Given the description of an element on the screen output the (x, y) to click on. 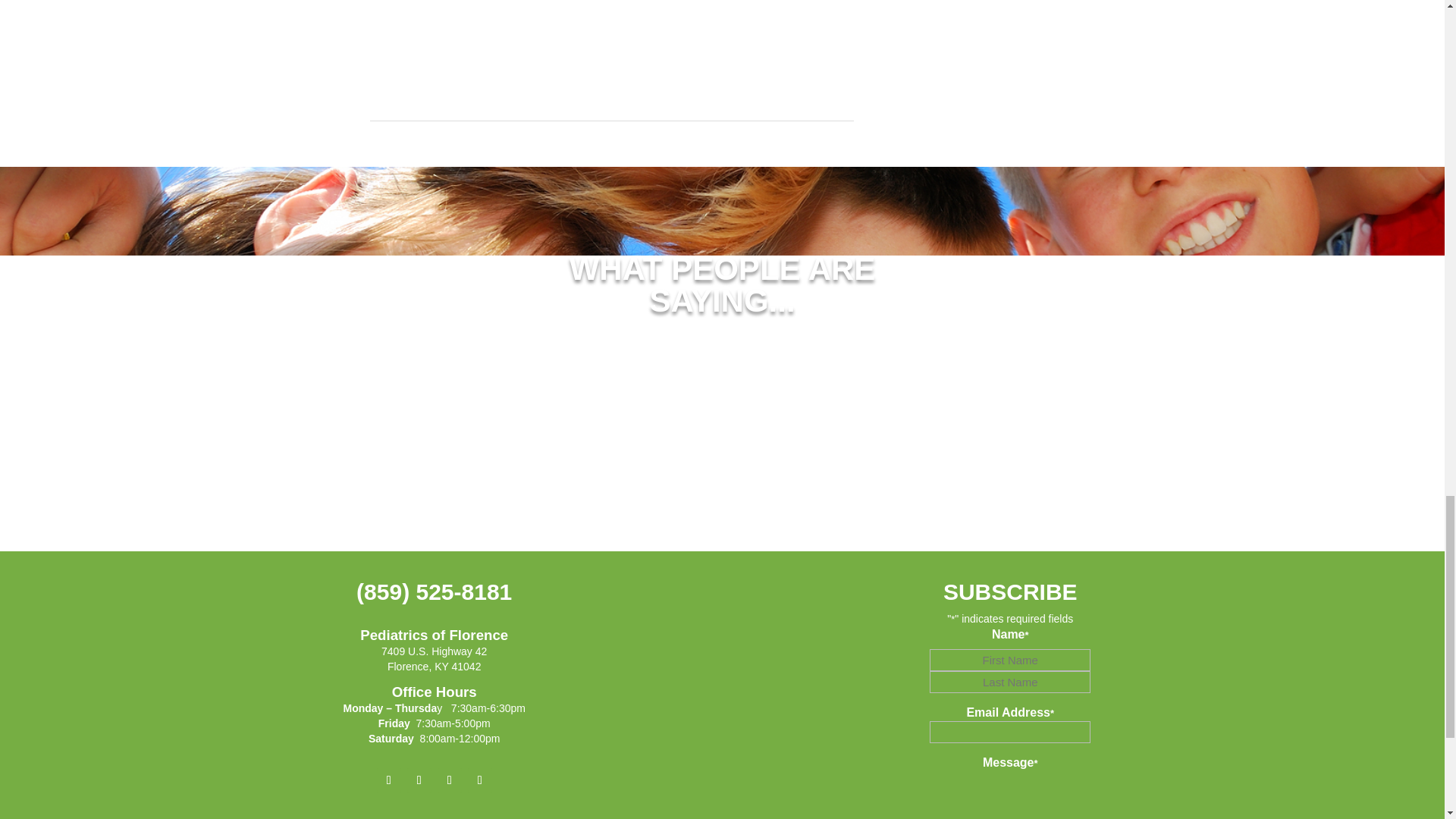
Follow on Facebook (389, 780)
Follow on Instagram (418, 780)
Follow on X (479, 780)
Follow on LinkedIn (449, 780)
